Given the description of an element on the screen output the (x, y) to click on. 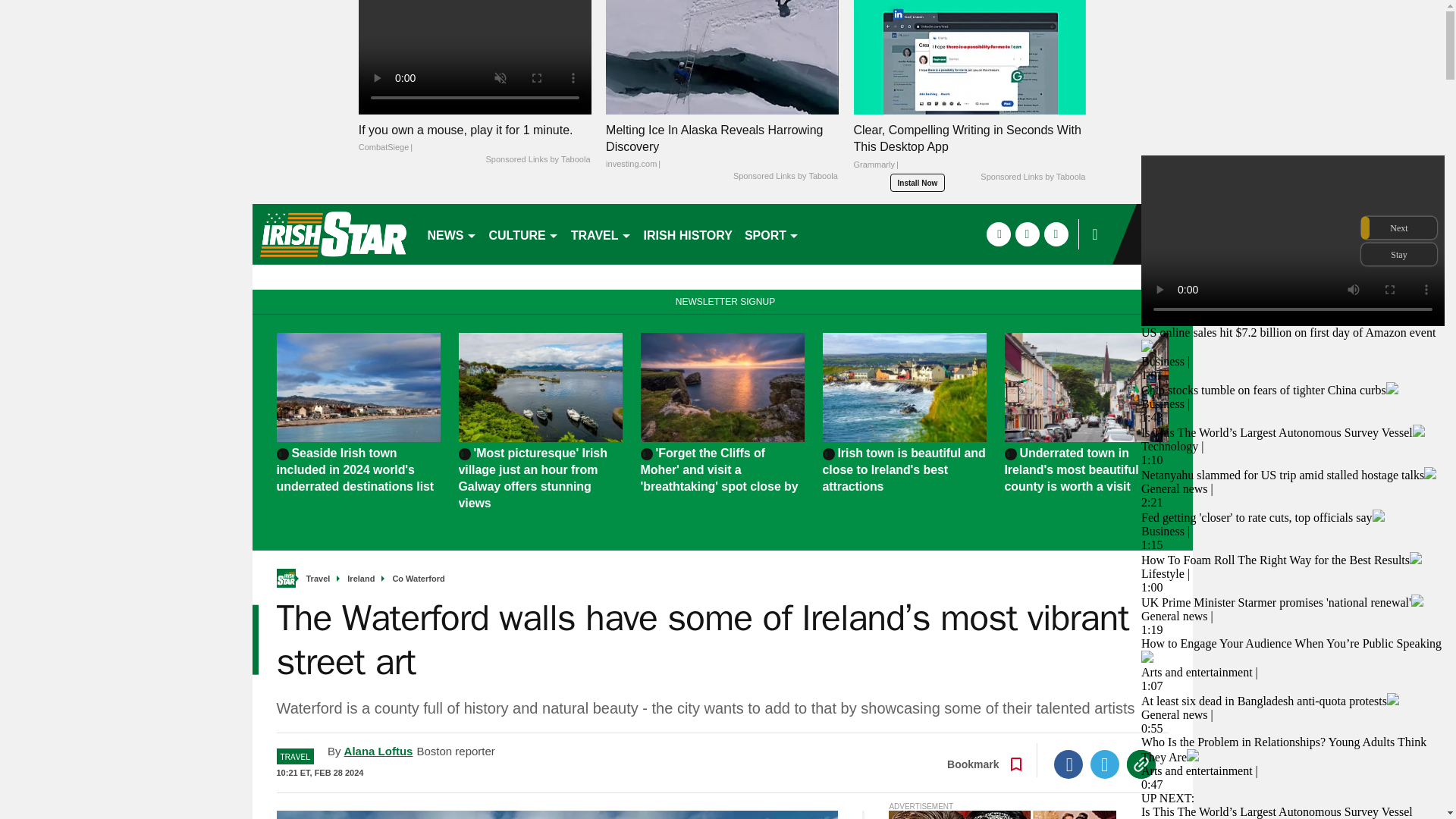
TRAVEL (600, 233)
Melting Ice In Alaska Reveals Harrowing Discovery (721, 146)
CULTURE (522, 233)
Sponsored Links by Taboola (536, 159)
instagram (1055, 233)
IRISH HISTORY (687, 233)
If you own a mouse, play it for 1 minute. (474, 138)
SPORT (771, 233)
Sponsored Links by Taboola (785, 176)
NEWS (452, 233)
Clear, Compelling Writing in Seconds With This Desktop App (969, 151)
facebook (997, 233)
Twitter (1104, 764)
Install Now (916, 182)
irishstar (332, 233)
